Given the description of an element on the screen output the (x, y) to click on. 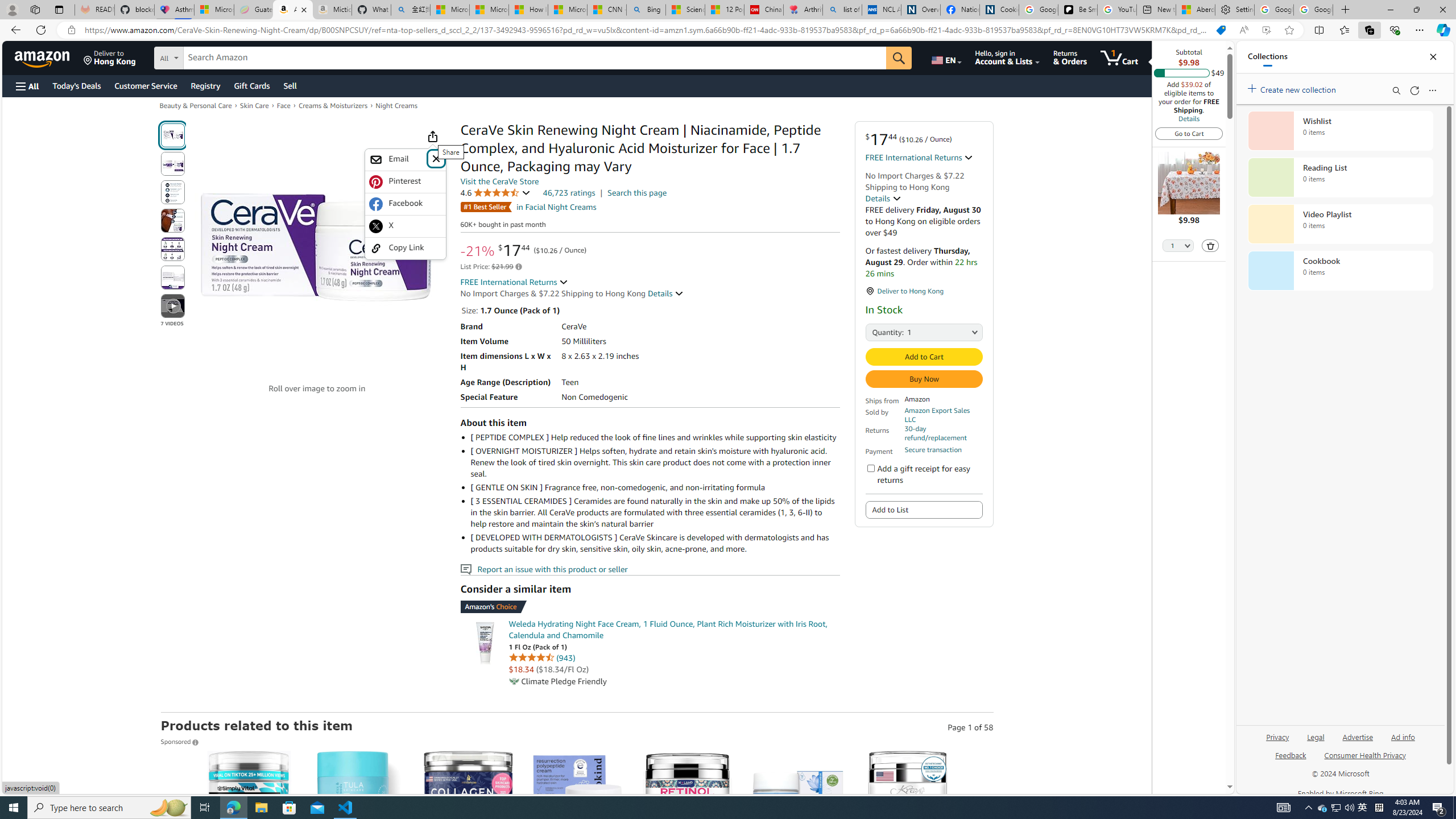
X (405, 225)
Reading List collection, 0 items (1339, 177)
